Given the description of an element on the screen output the (x, y) to click on. 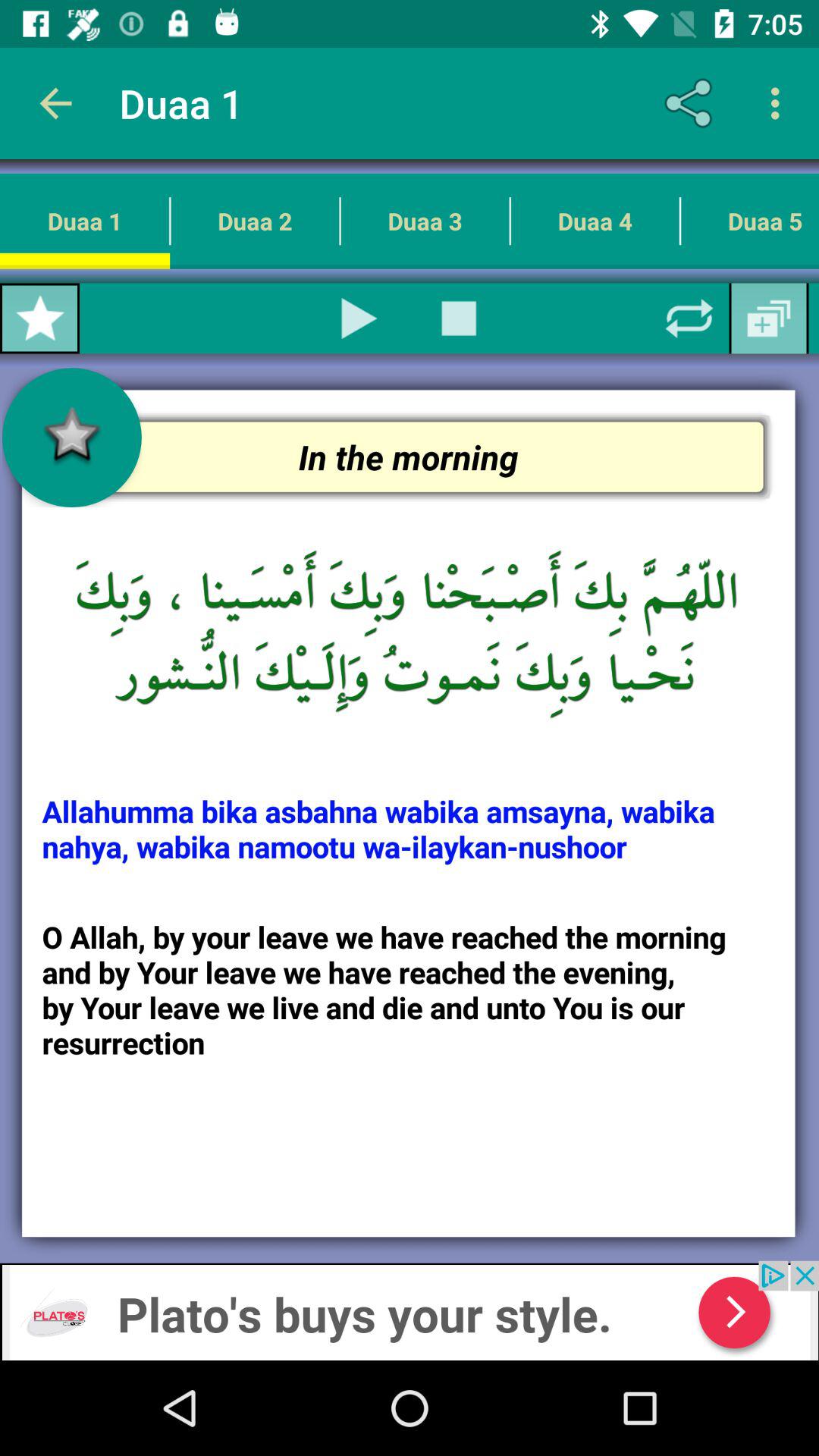
turn off app to the right of duaa 3 icon (595, 221)
